Given the description of an element on the screen output the (x, y) to click on. 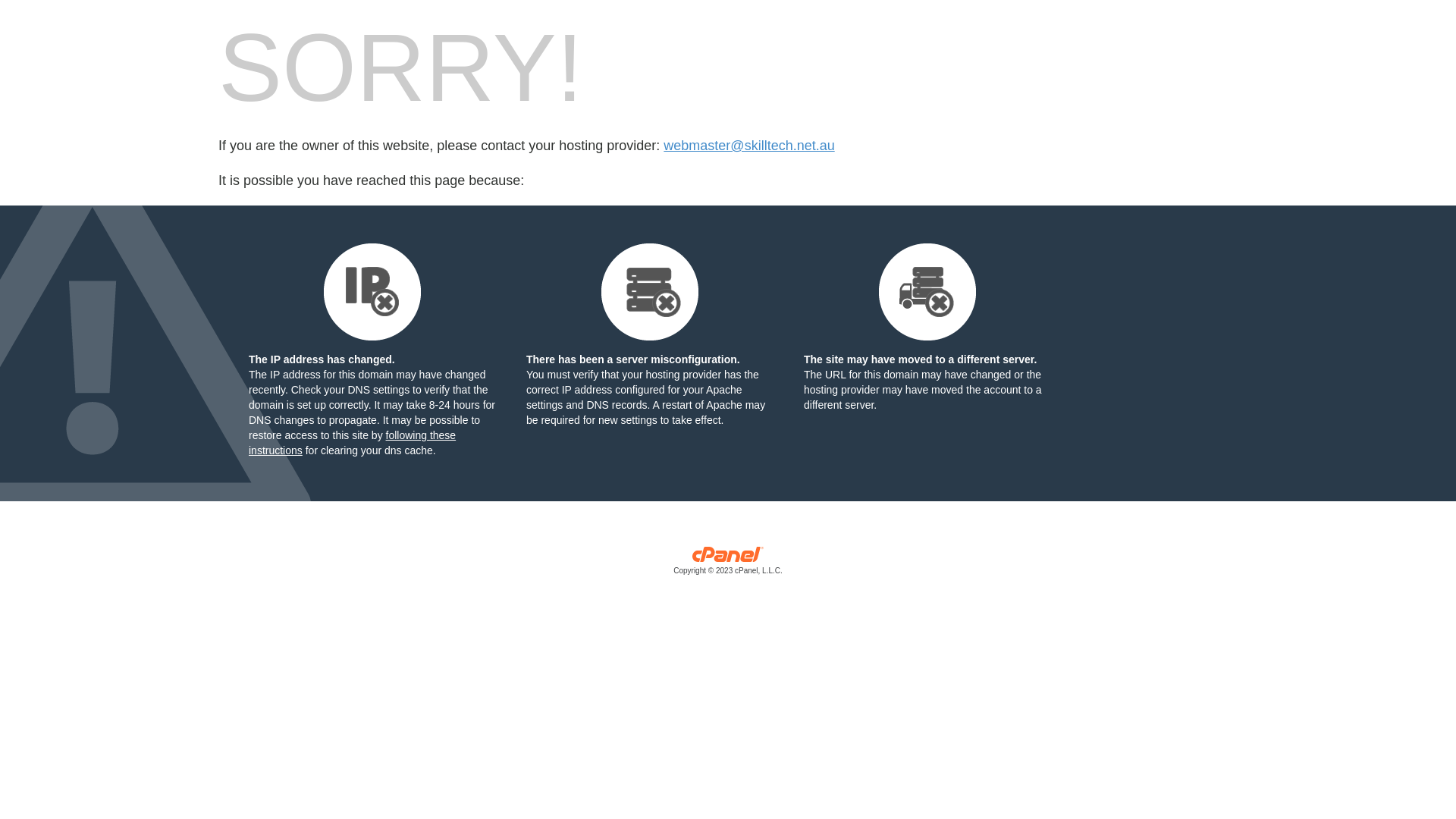
webmaster@skilltech.net.au Element type: text (748, 145)
following these instructions Element type: text (351, 442)
